Given the description of an element on the screen output the (x, y) to click on. 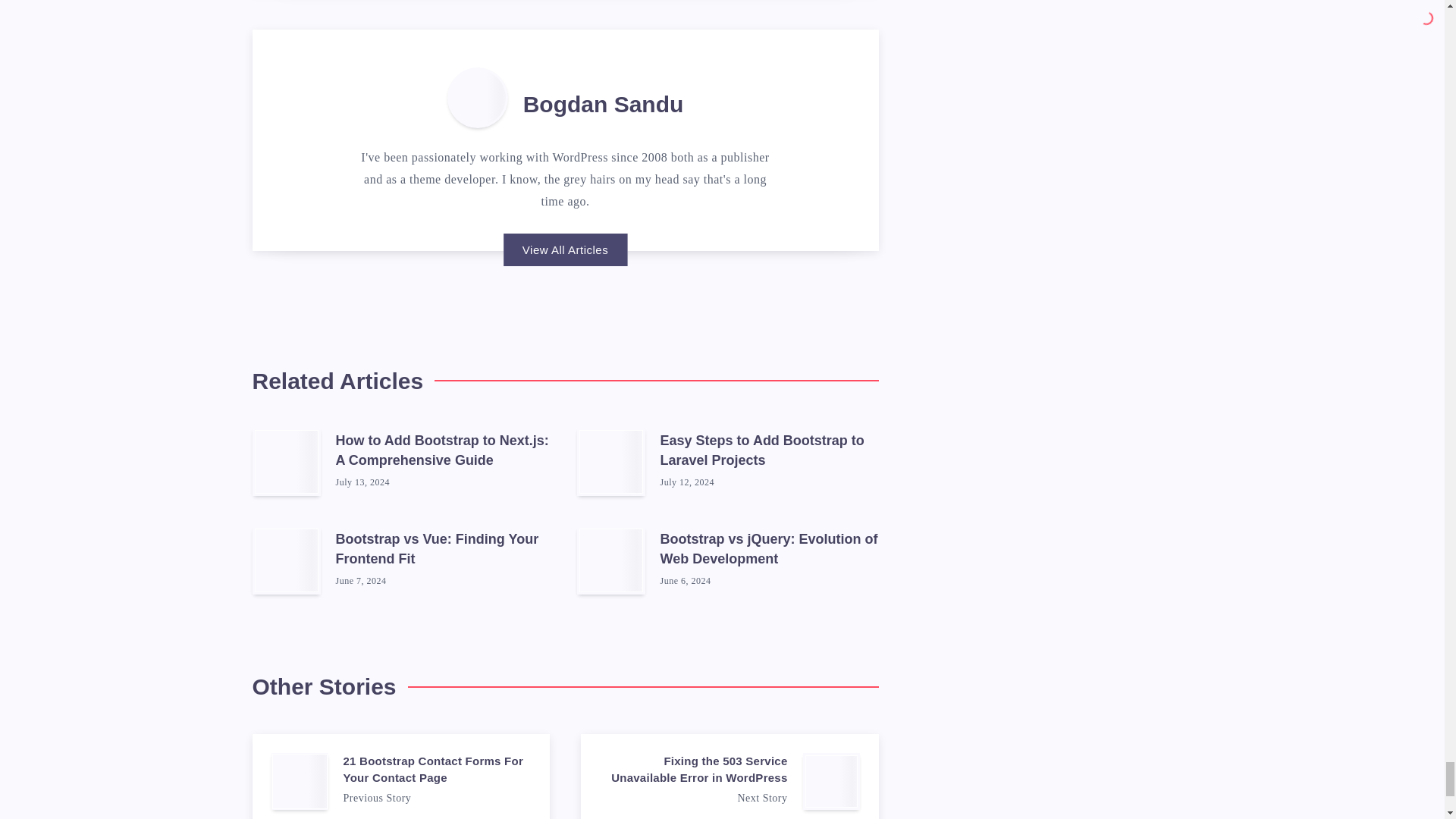
Author: Bogdan Sandu (477, 97)
